Given the description of an element on the screen output the (x, y) to click on. 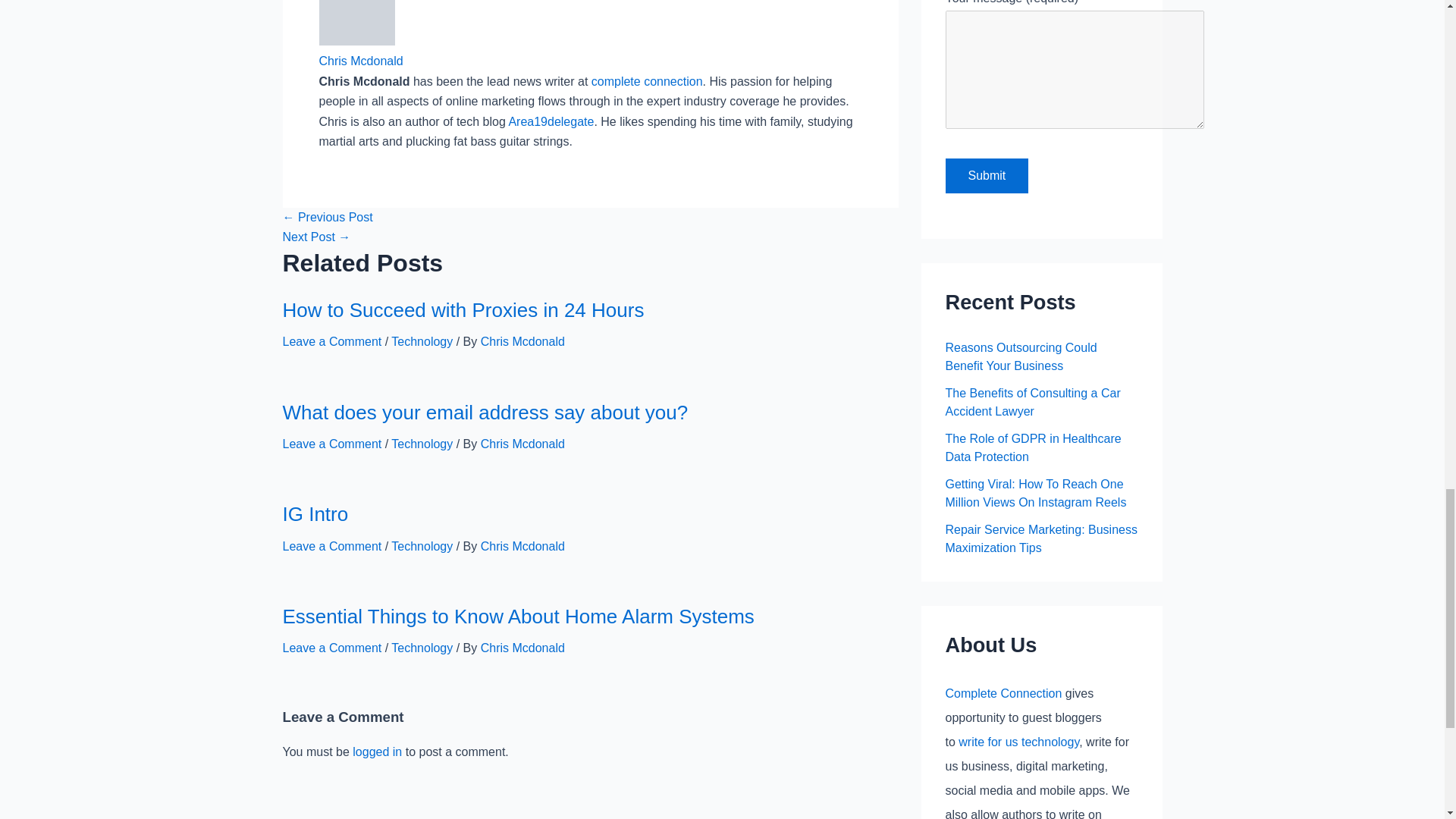
Area19delegate (551, 121)
How to Succeed with Proxies in 24 Hours (462, 309)
Technology (421, 545)
Leave a Comment (331, 545)
complete connection (647, 81)
7 Ideal Specification of a Reliable Power Bank (327, 216)
Leave a Comment (331, 341)
View all posts by Chris Mcdonald (522, 443)
Chris Mcdonald (522, 341)
Technology (421, 341)
View all posts by Chris Mcdonald (522, 647)
View all posts by Chris Mcdonald (522, 545)
Submit (985, 175)
View all posts by Chris Mcdonald (522, 341)
Leave a Comment (331, 443)
